Given the description of an element on the screen output the (x, y) to click on. 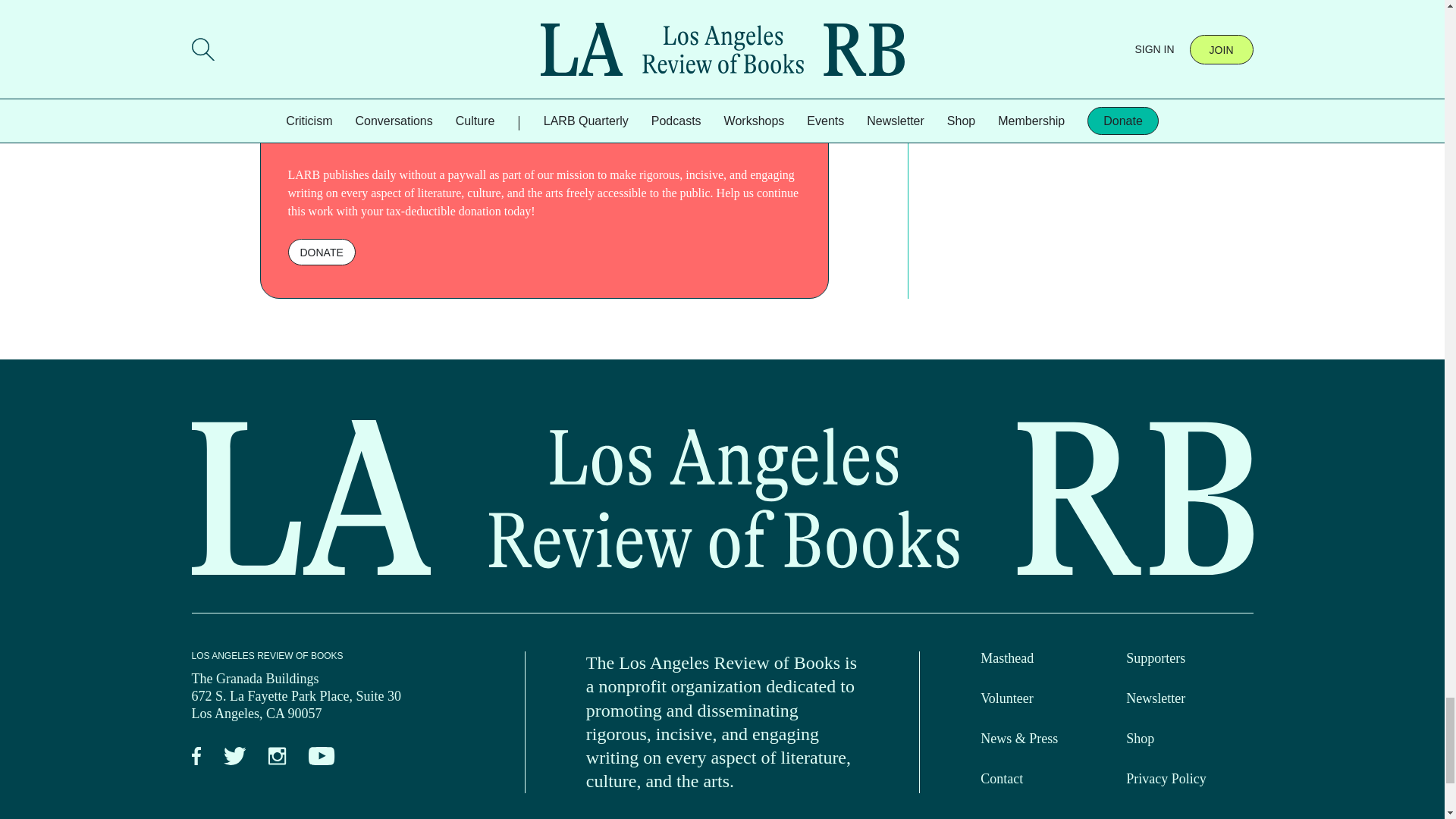
DONATE (321, 252)
YouTube (321, 756)
